Given the description of an element on the screen output the (x, y) to click on. 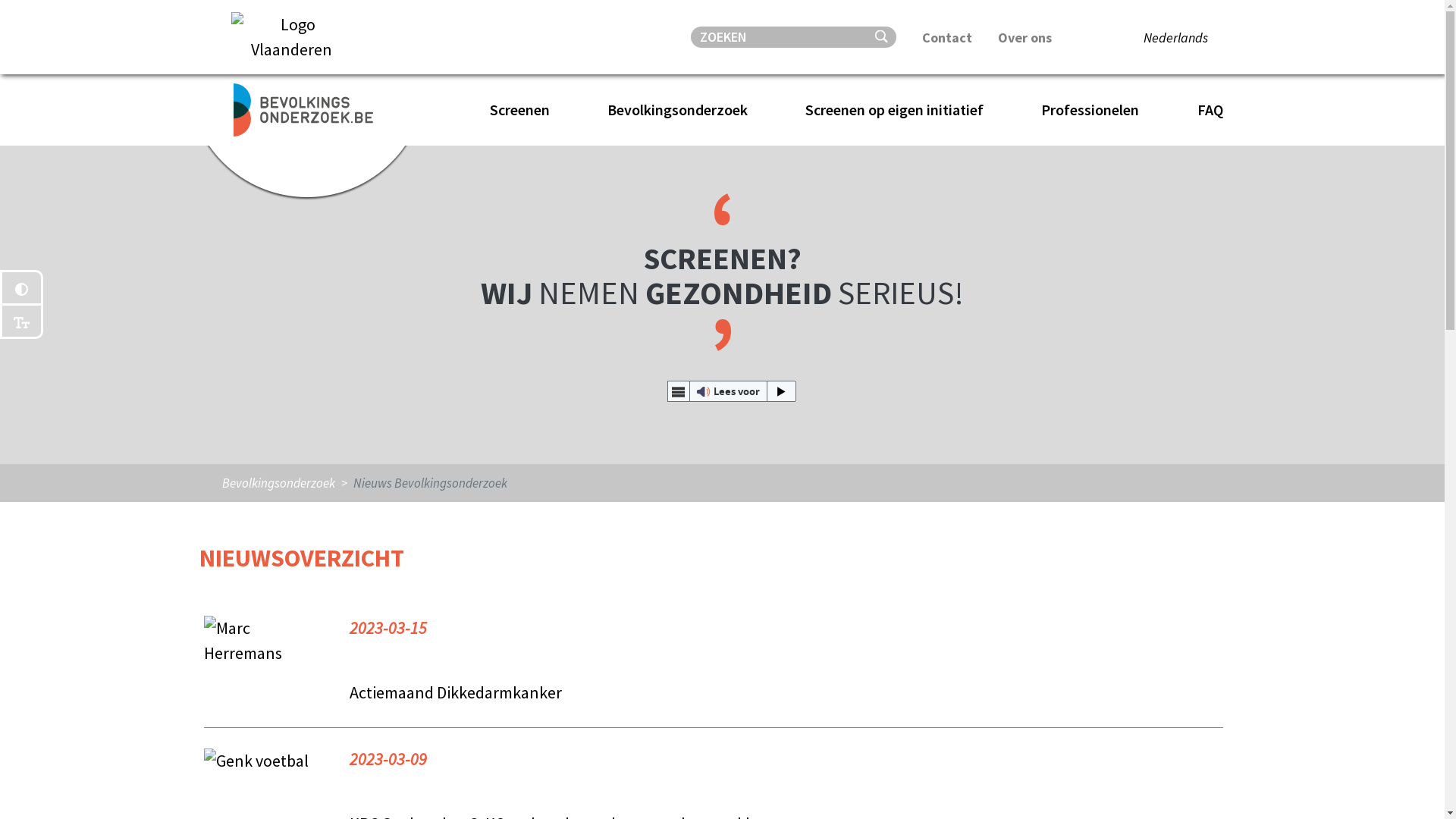
Screenen op eigen initiatief Element type: text (900, 109)
FAQ Element type: text (1209, 109)
2023-03-15
Actiemaand Dikkedarmkanker Element type: text (712, 662)
Professionelen Element type: text (1096, 109)
webReader menu Element type: hover (678, 390)
Lees voor Element type: text (732, 390)
Zoeken Element type: text (882, 36)
Bevolkingsonderzoek Element type: text (277, 482)
Over ons Element type: text (1024, 37)
Home Element type: hover (302, 109)
Nederlands Element type: text (1175, 37)
Home Element type: text (435, 109)
Bevolkingsonderzoek Element type: text (683, 109)
Screenen Element type: text (525, 109)
Contact Element type: text (947, 37)
Geef de woorden op waarnaar u wilt zoeken. Element type: hover (781, 36)
